Given the description of an element on the screen output the (x, y) to click on. 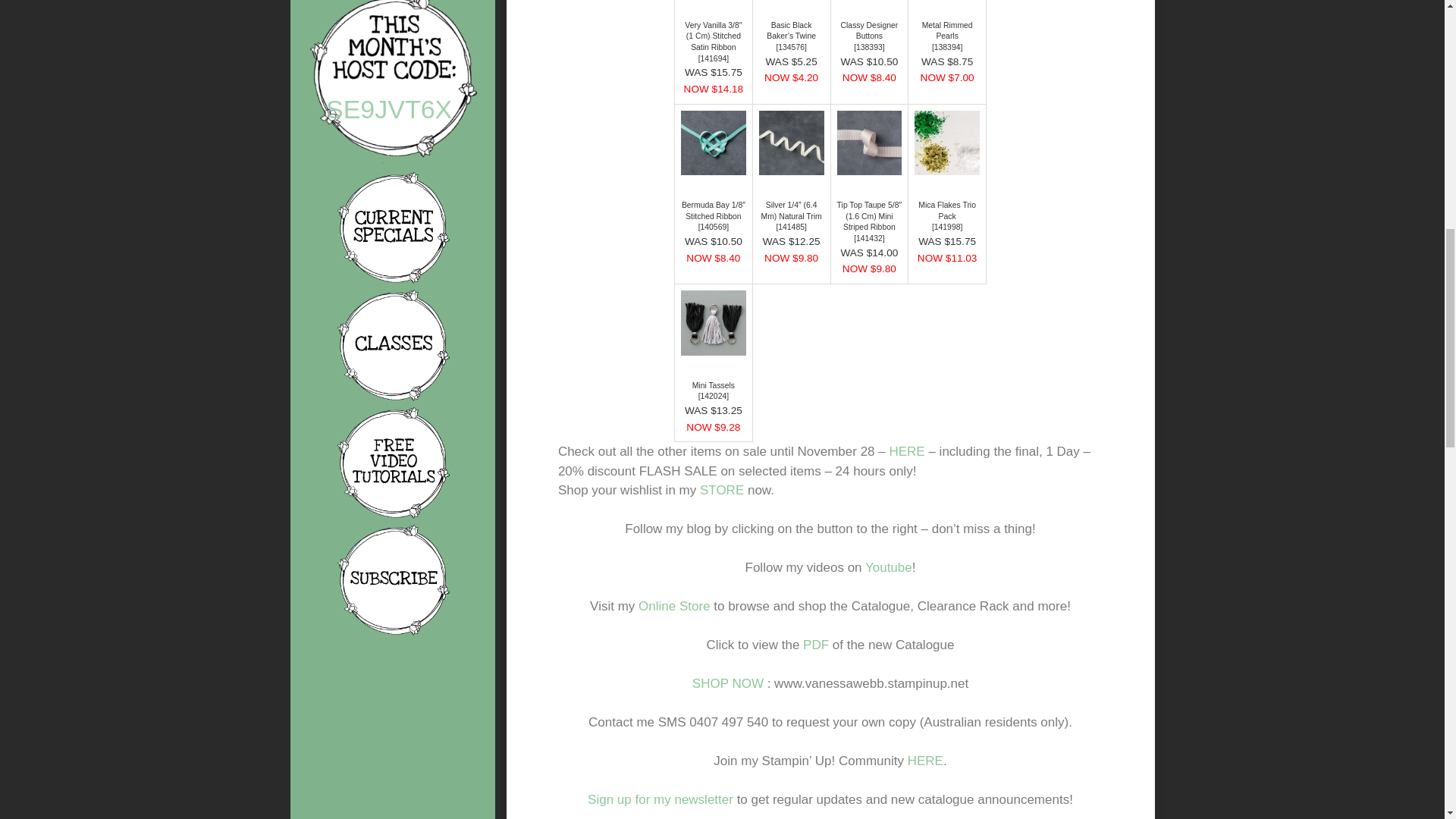
Basic Black Baker's Twine (791, 47)
Basic Black Baker's Twine (791, 30)
